Given the description of an element on the screen output the (x, y) to click on. 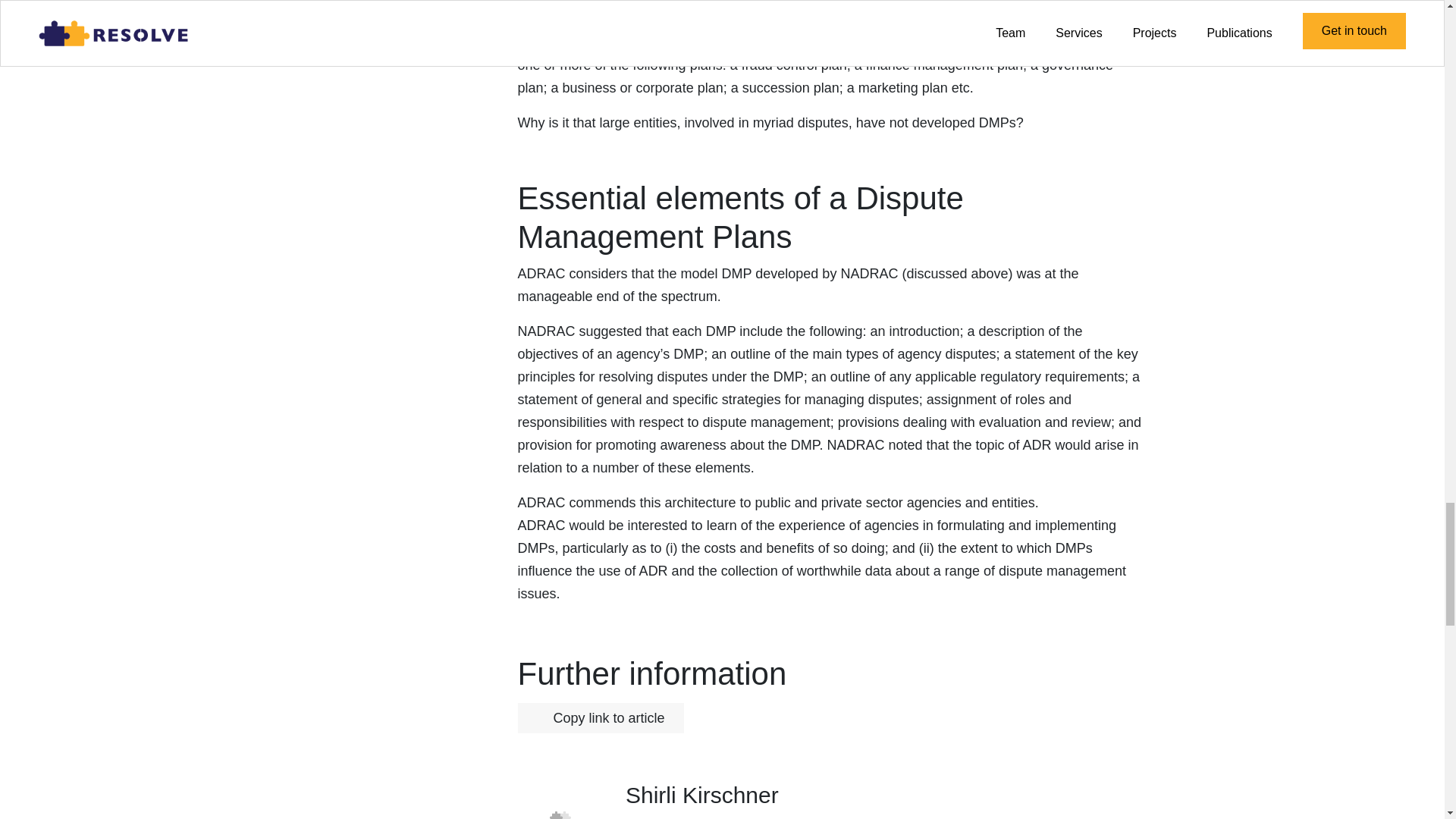
Copy link to article (543, 718)
Copy link to article (599, 717)
